Given the description of an element on the screen output the (x, y) to click on. 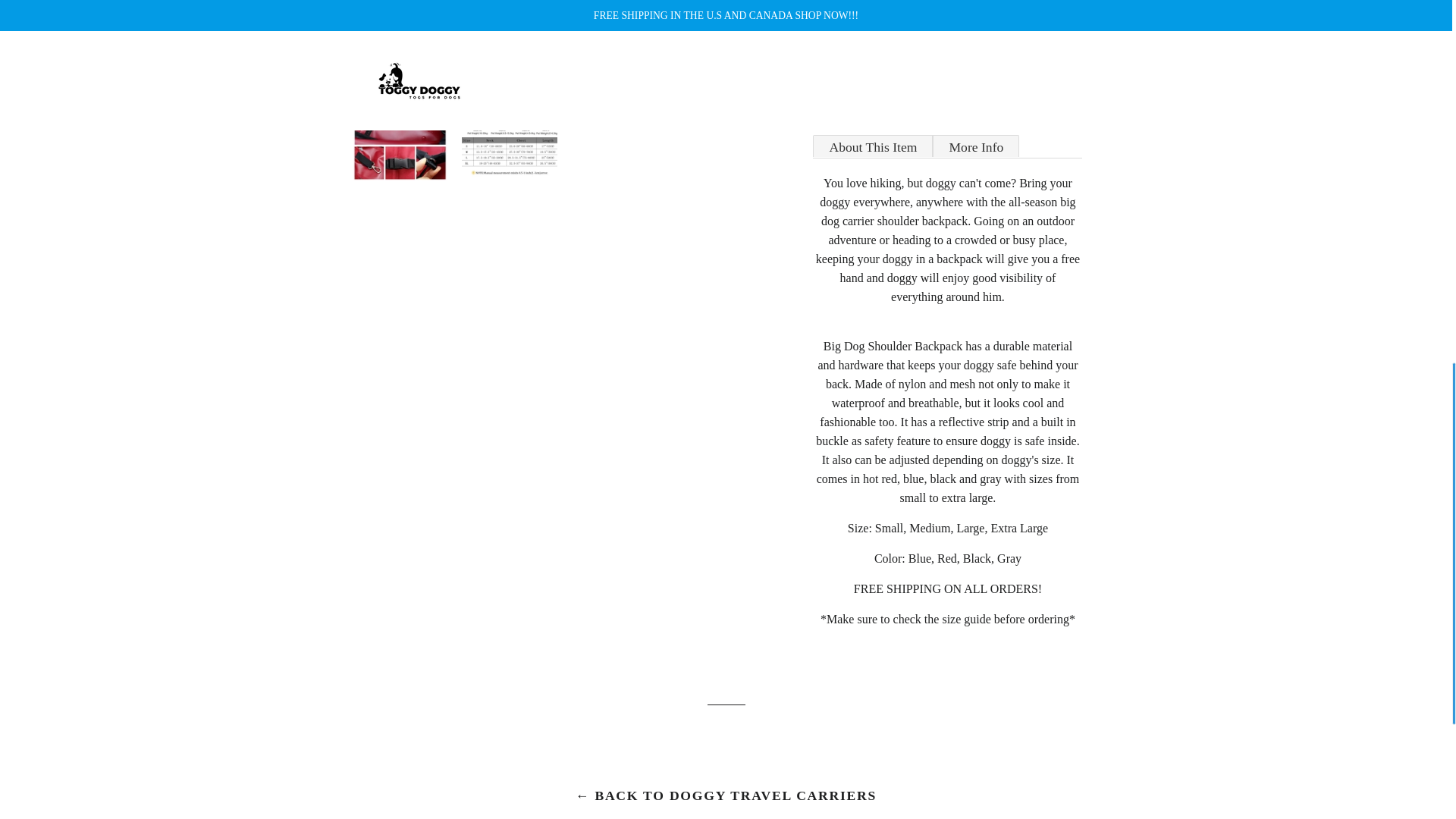
Tweet on Twitter (948, 91)
Share on Facebook (897, 91)
Pin on Pinterest (999, 91)
